Given the description of an element on the screen output the (x, y) to click on. 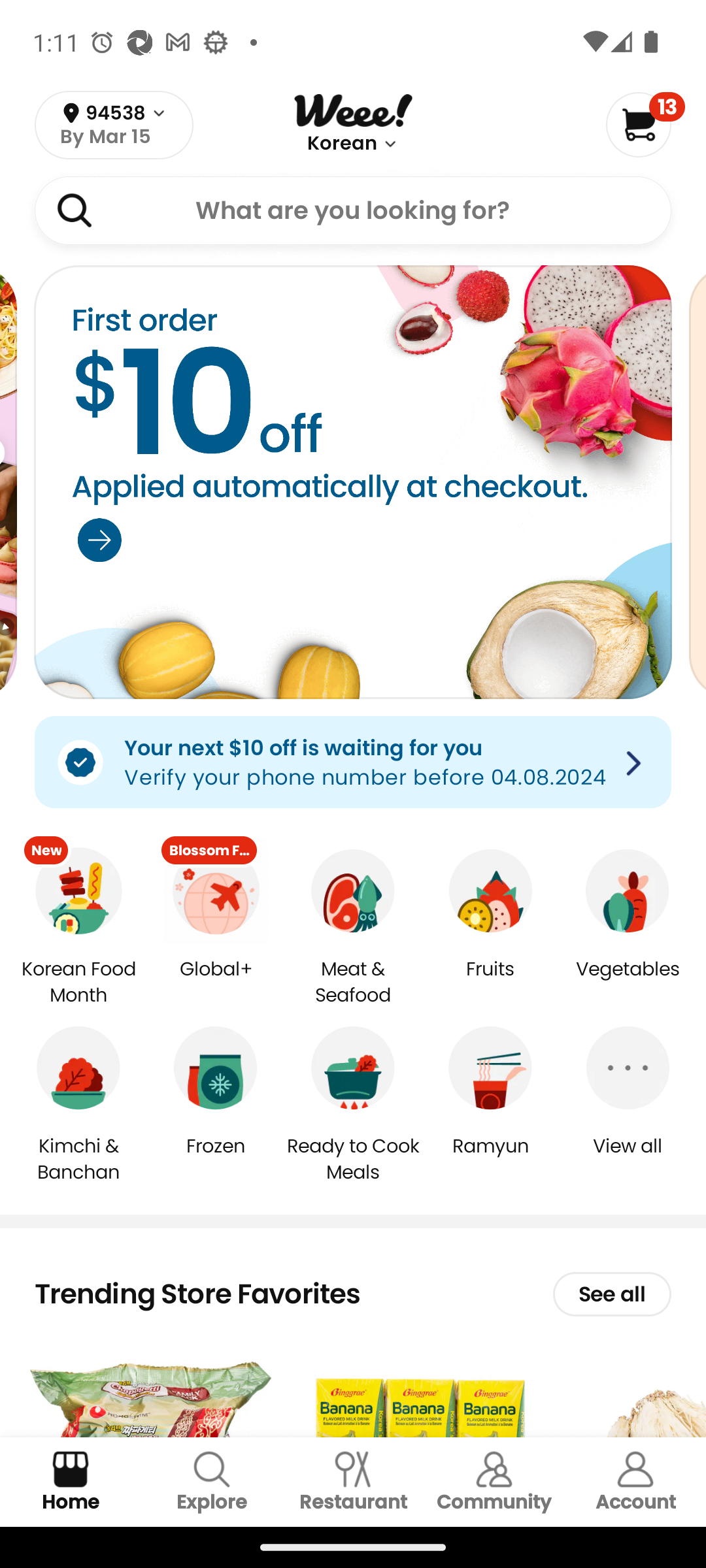
94538 By Mar 15 (113, 124)
13 (644, 124)
Korean (342, 143)
What are you looking for? (352, 209)
Korean Food Month (77, 982)
Global+ (215, 982)
Meat & Seafood (352, 982)
Fruits (490, 982)
Vegetables (627, 982)
Kimchi & Banchan (77, 1158)
Frozen (215, 1159)
Ready to Cook Meals (352, 1158)
Ramyun (490, 1159)
View all (627, 1159)
Home (70, 1482)
Explore (211, 1482)
Restaurant (352, 1482)
Community (493, 1482)
Account (635, 1482)
